Given the description of an element on the screen output the (x, y) to click on. 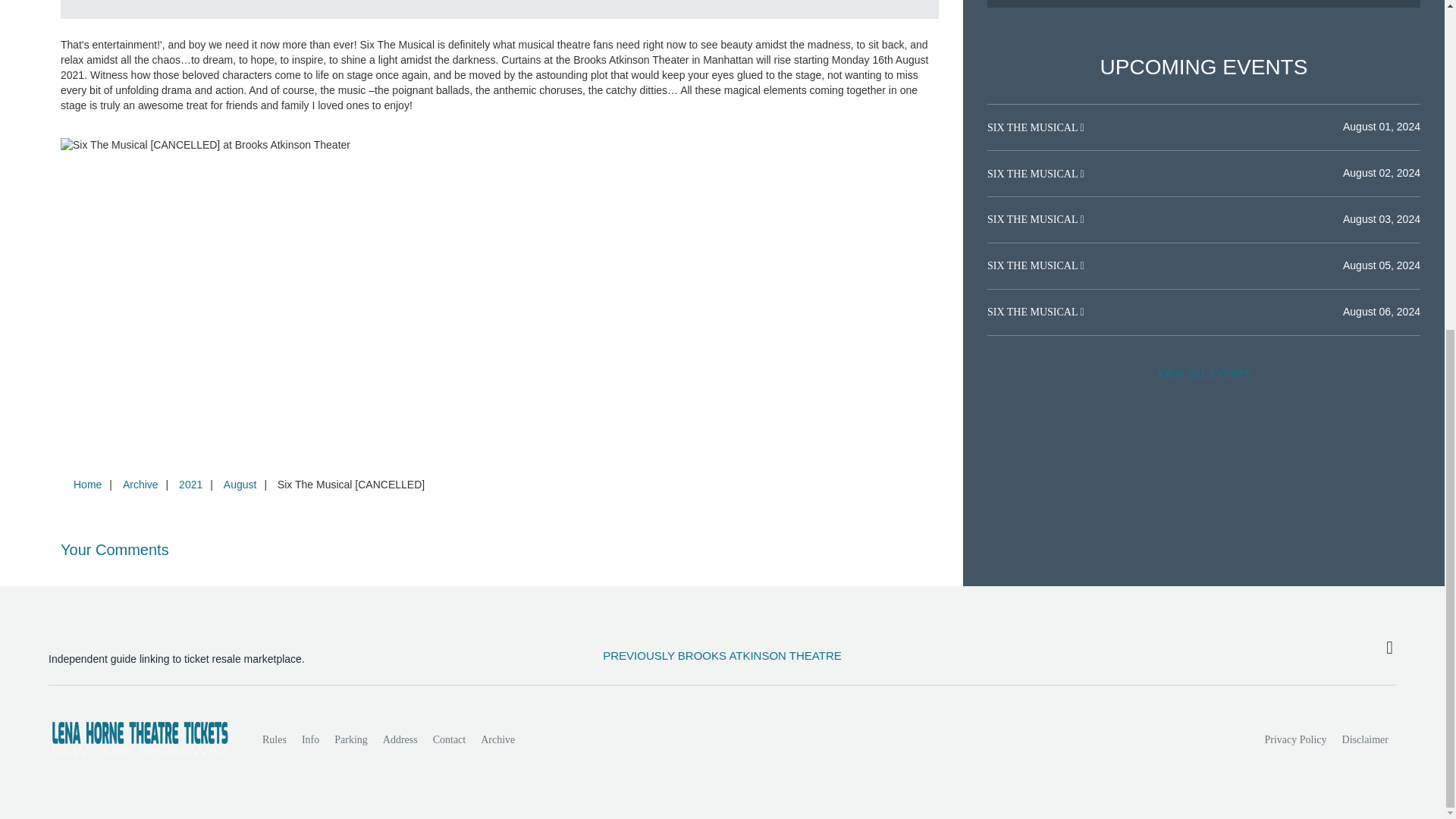
VIEW ALL EVENTS (1203, 374)
Contact (449, 739)
Info (310, 739)
Home (87, 484)
August (239, 484)
2021 (190, 484)
Parking (350, 739)
Rules (274, 739)
Address (400, 739)
Privacy Policy (1296, 739)
Disclaimer (1365, 739)
Archive (497, 739)
Archive (140, 484)
